Given the description of an element on the screen output the (x, y) to click on. 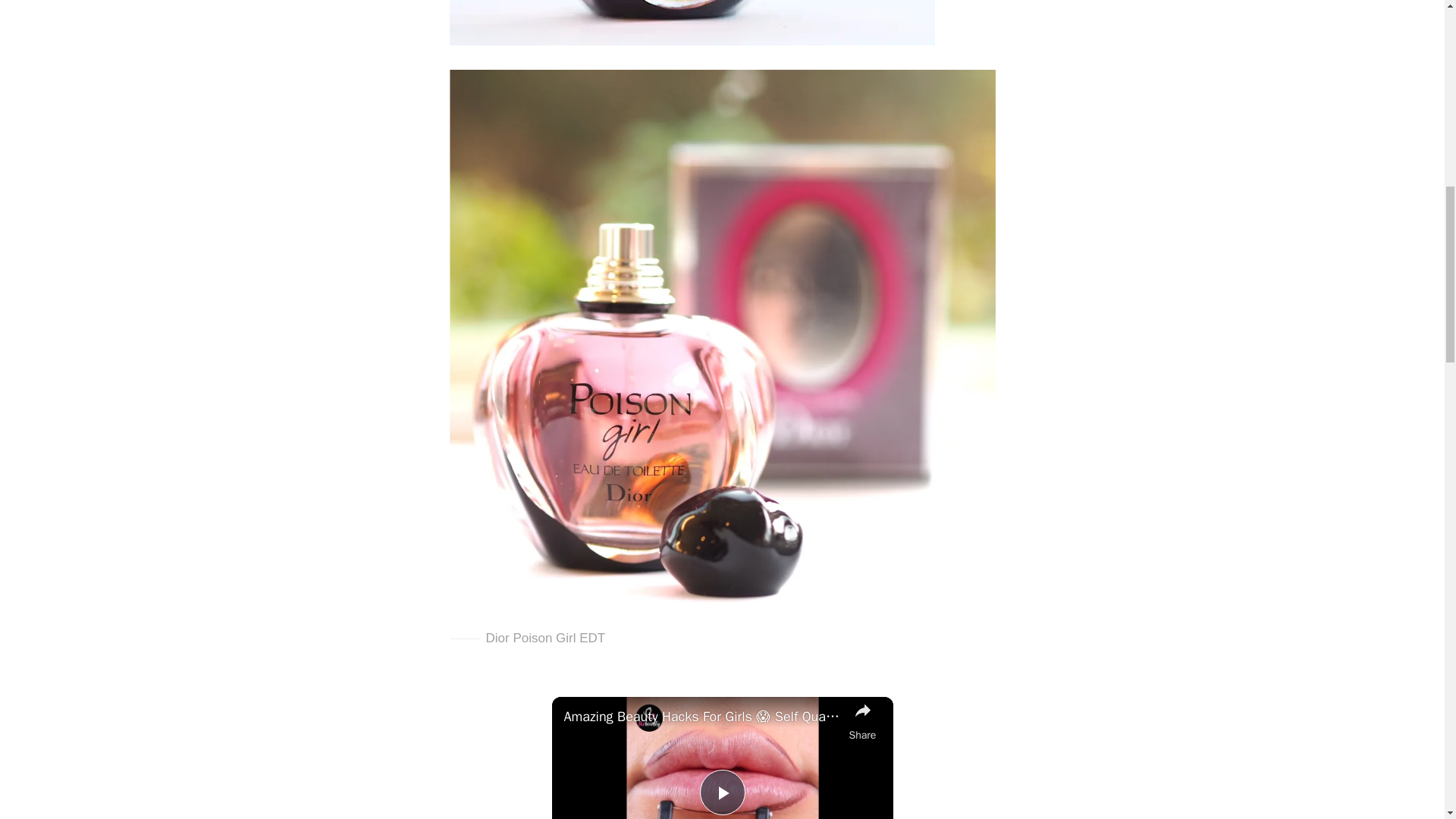
Play Video (721, 791)
Play Video (721, 791)
